Given the description of an element on the screen output the (x, y) to click on. 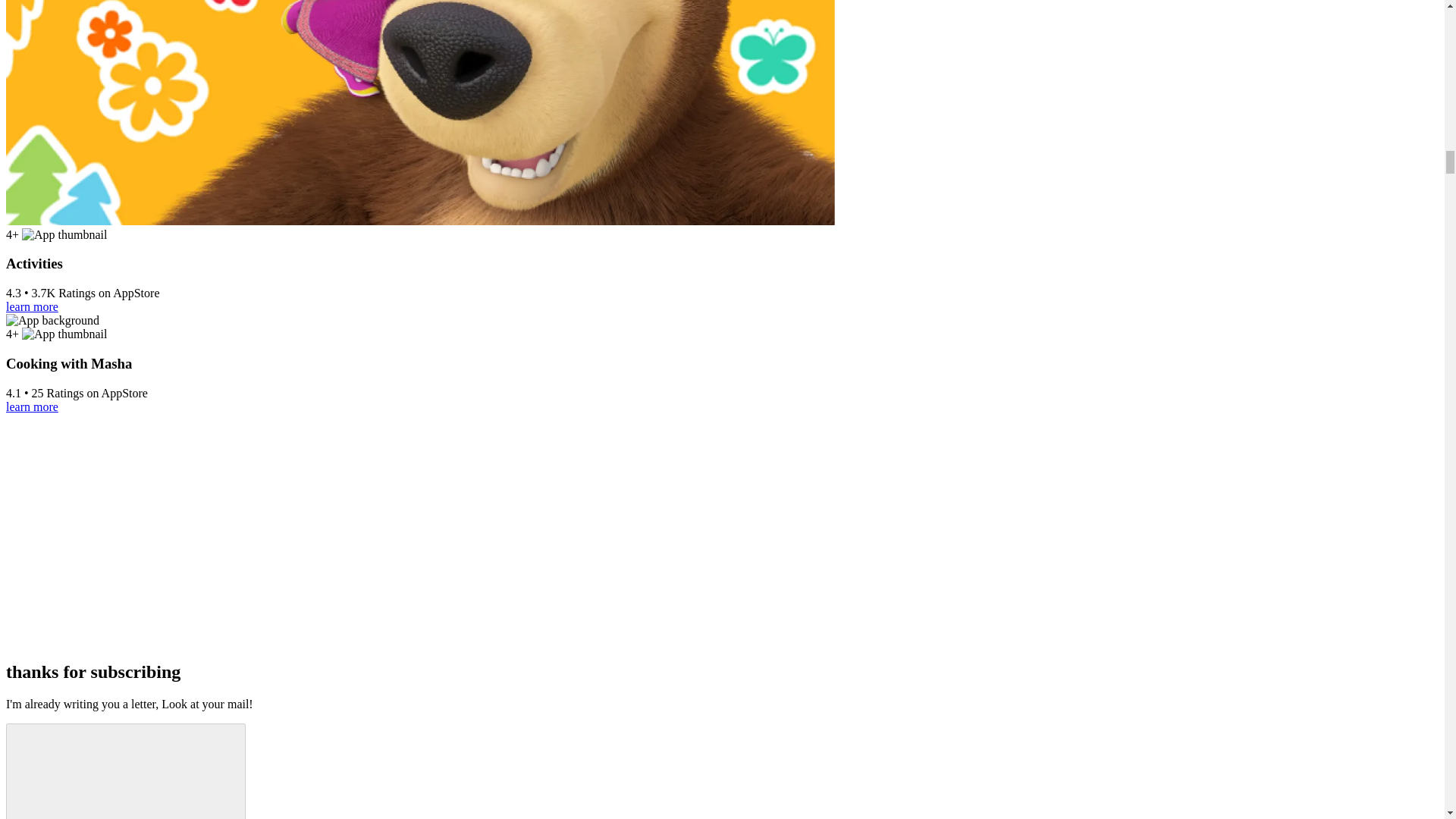
learn more (31, 406)
learn more (31, 306)
